Given the description of an element on the screen output the (x, y) to click on. 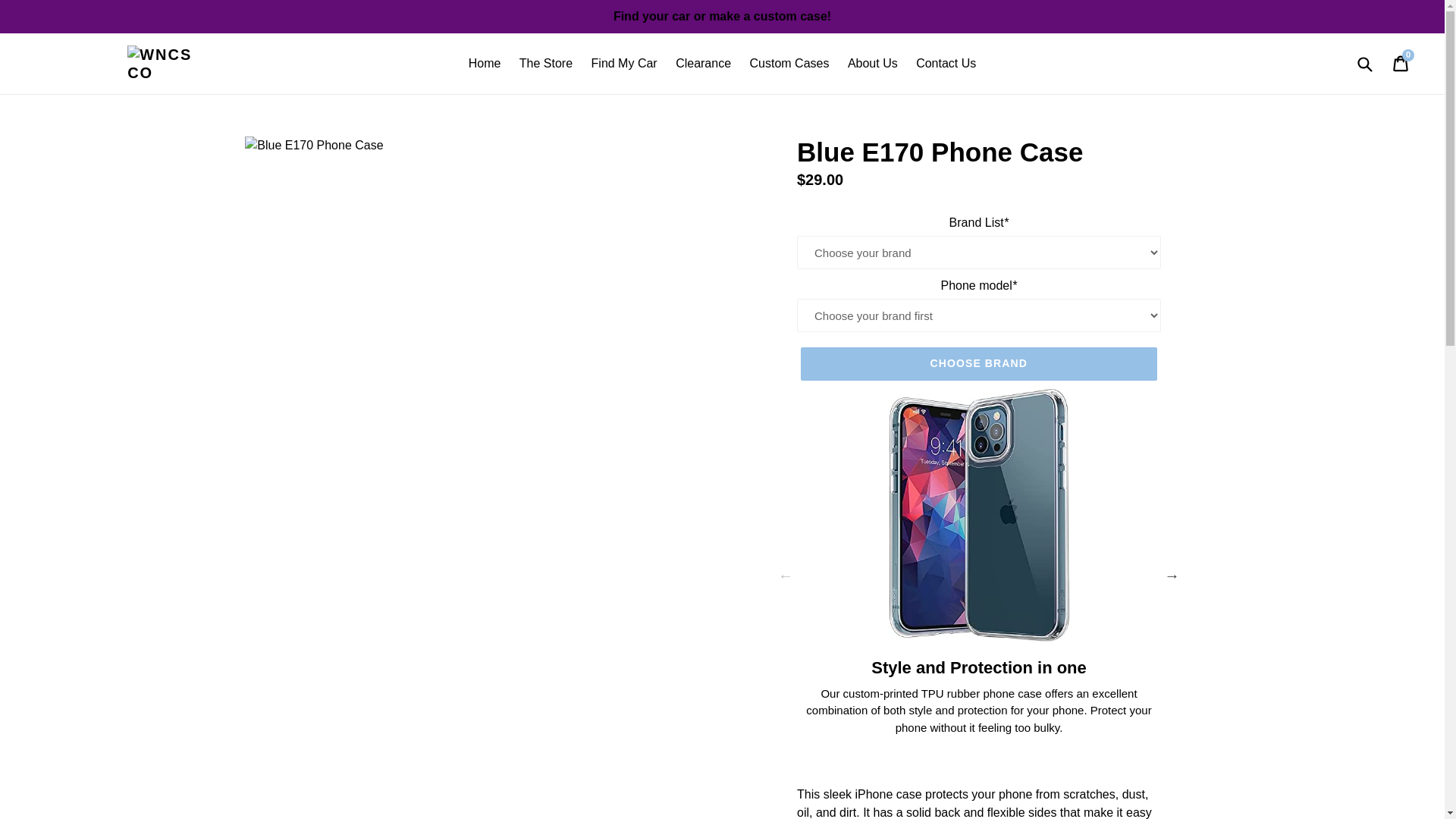
Find My Car (624, 63)
CHOOSE BRAND (978, 363)
Next slide (1171, 575)
Clearance (703, 63)
Home (484, 63)
Previous slide (785, 575)
Contact Us (946, 63)
About Us (872, 63)
Custom Cases (789, 63)
The Store (545, 63)
